Given the description of an element on the screen output the (x, y) to click on. 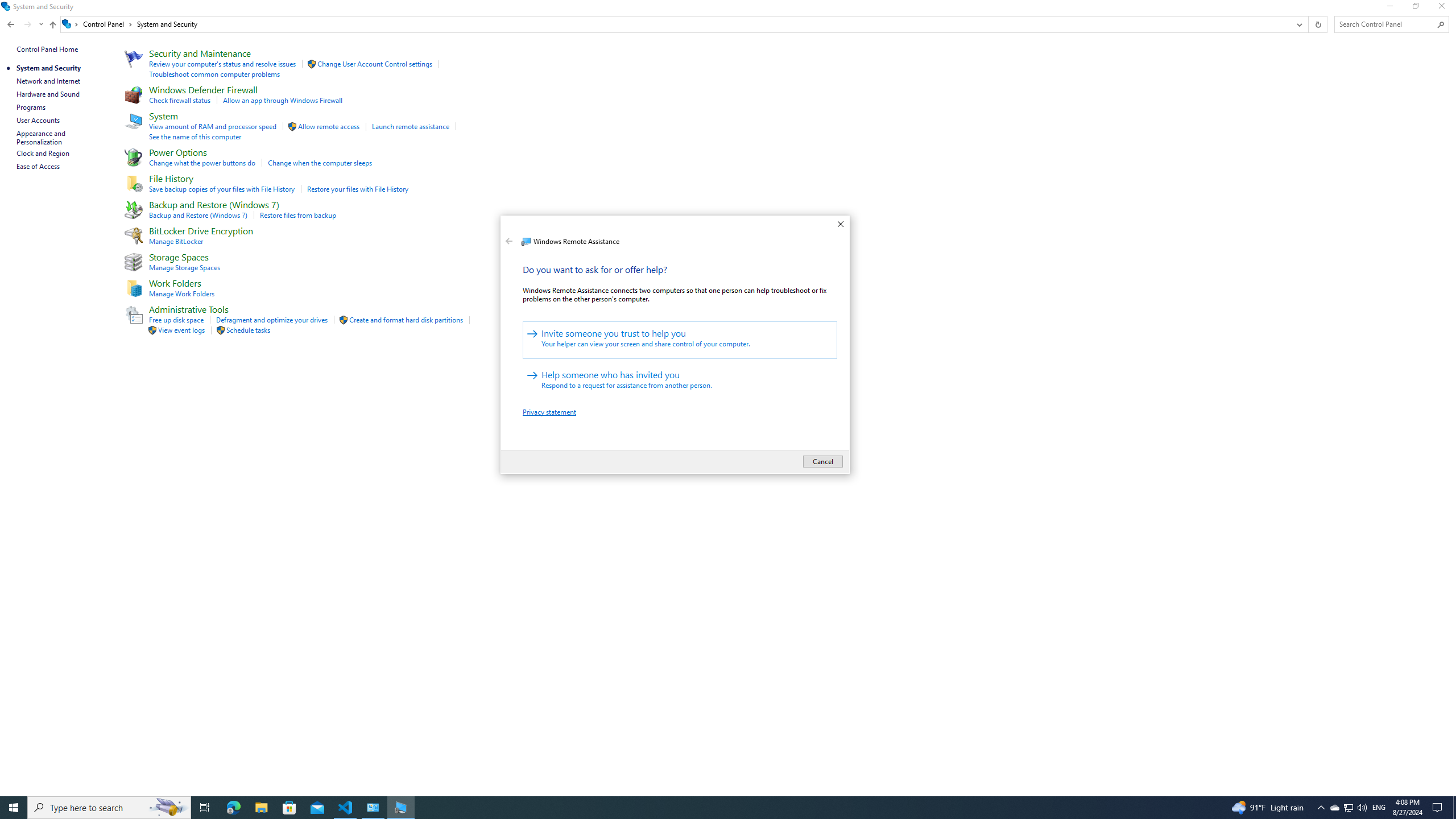
Start (13, 807)
Q2790: 100% (1361, 807)
Close (839, 224)
Cancel (822, 461)
Type here to search (108, 807)
Visual Studio Code - 1 running window (345, 807)
Action Center, No new notifications (1439, 807)
Show desktop (1454, 807)
Help someone who has invited you (679, 381)
Notification Chevron (1320, 807)
System (1333, 807)
Microsoft Store (506, 226)
Task View (289, 807)
